Given the description of an element on the screen output the (x, y) to click on. 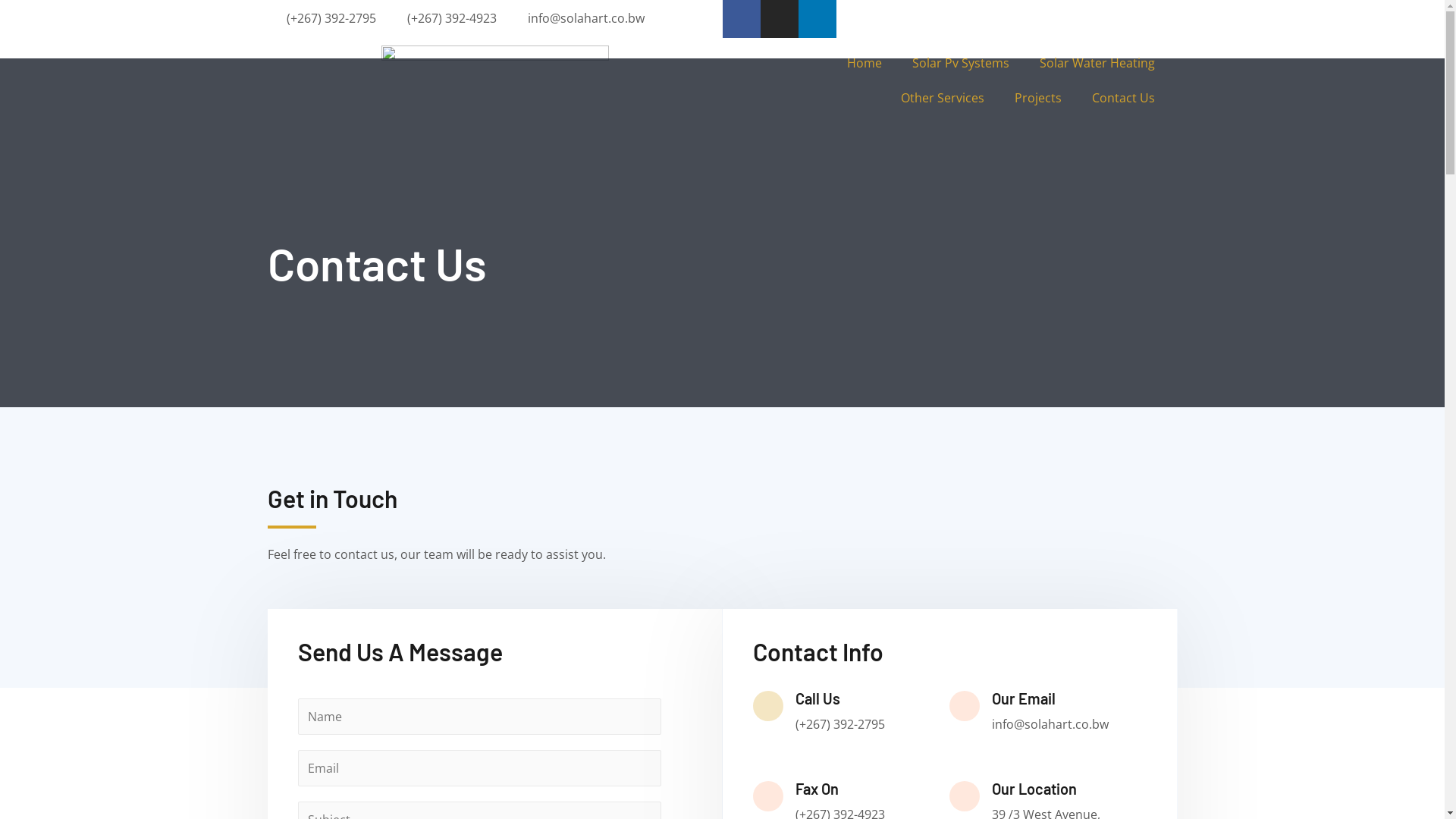
Home Element type: text (863, 62)
Solar Pv Systems Element type: text (959, 62)
Contact Us Element type: text (1123, 97)
Other Services Element type: text (942, 97)
Solar Water Heating Element type: text (1096, 62)
Projects Element type: text (1037, 97)
